Given the description of an element on the screen output the (x, y) to click on. 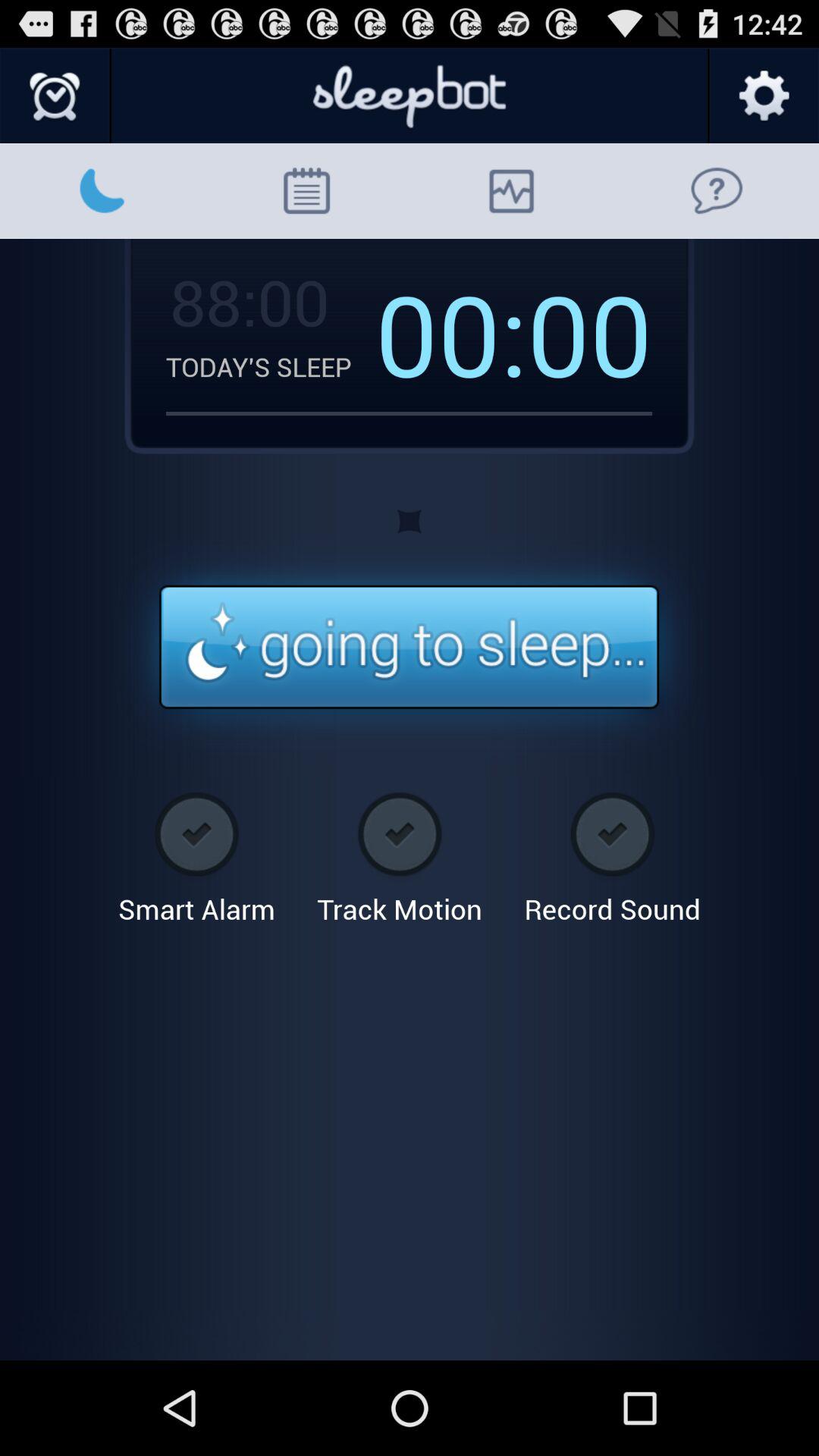
tool options (763, 96)
